Given the description of an element on the screen output the (x, y) to click on. 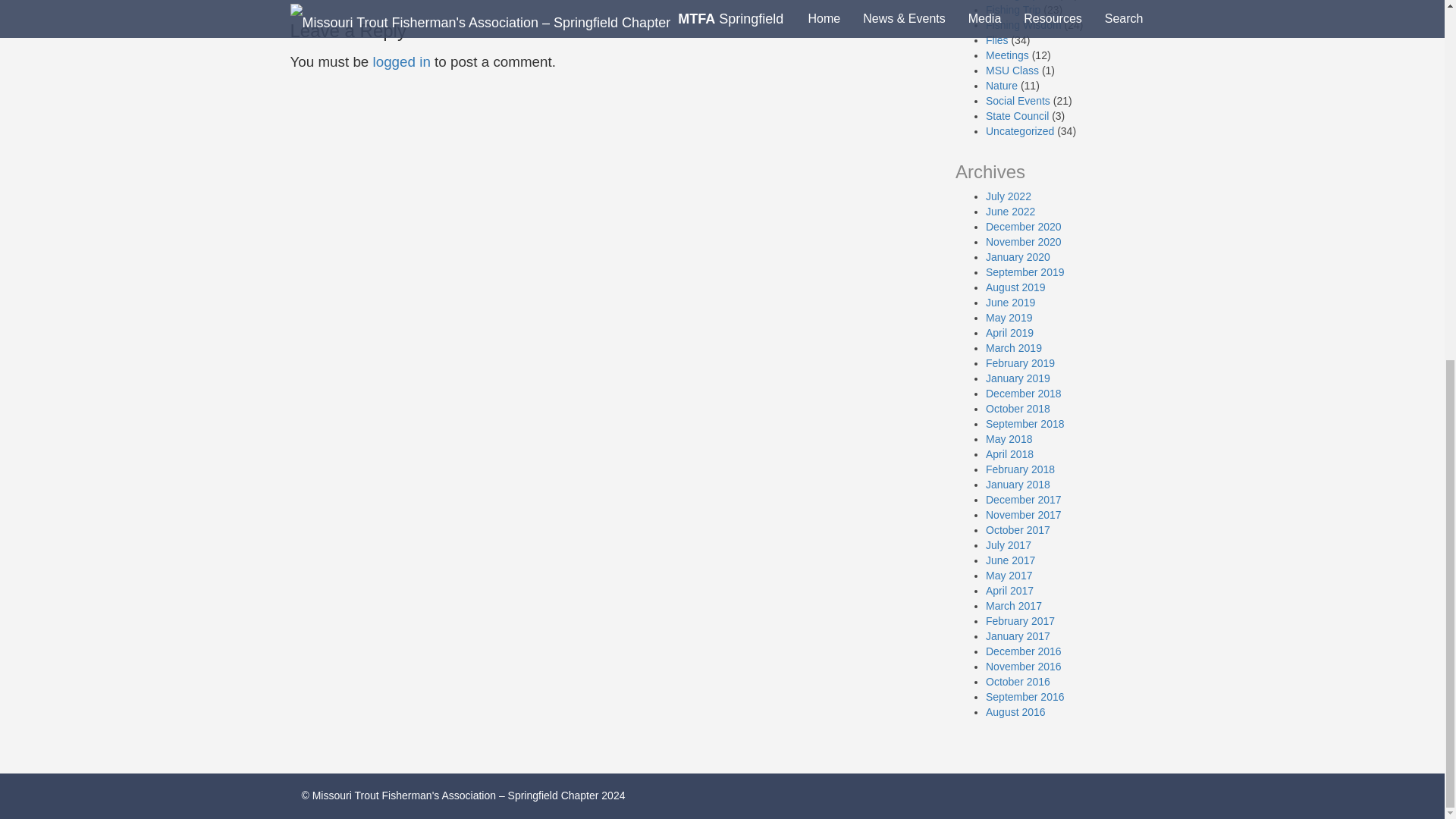
logged in (401, 61)
